Given the description of an element on the screen output the (x, y) to click on. 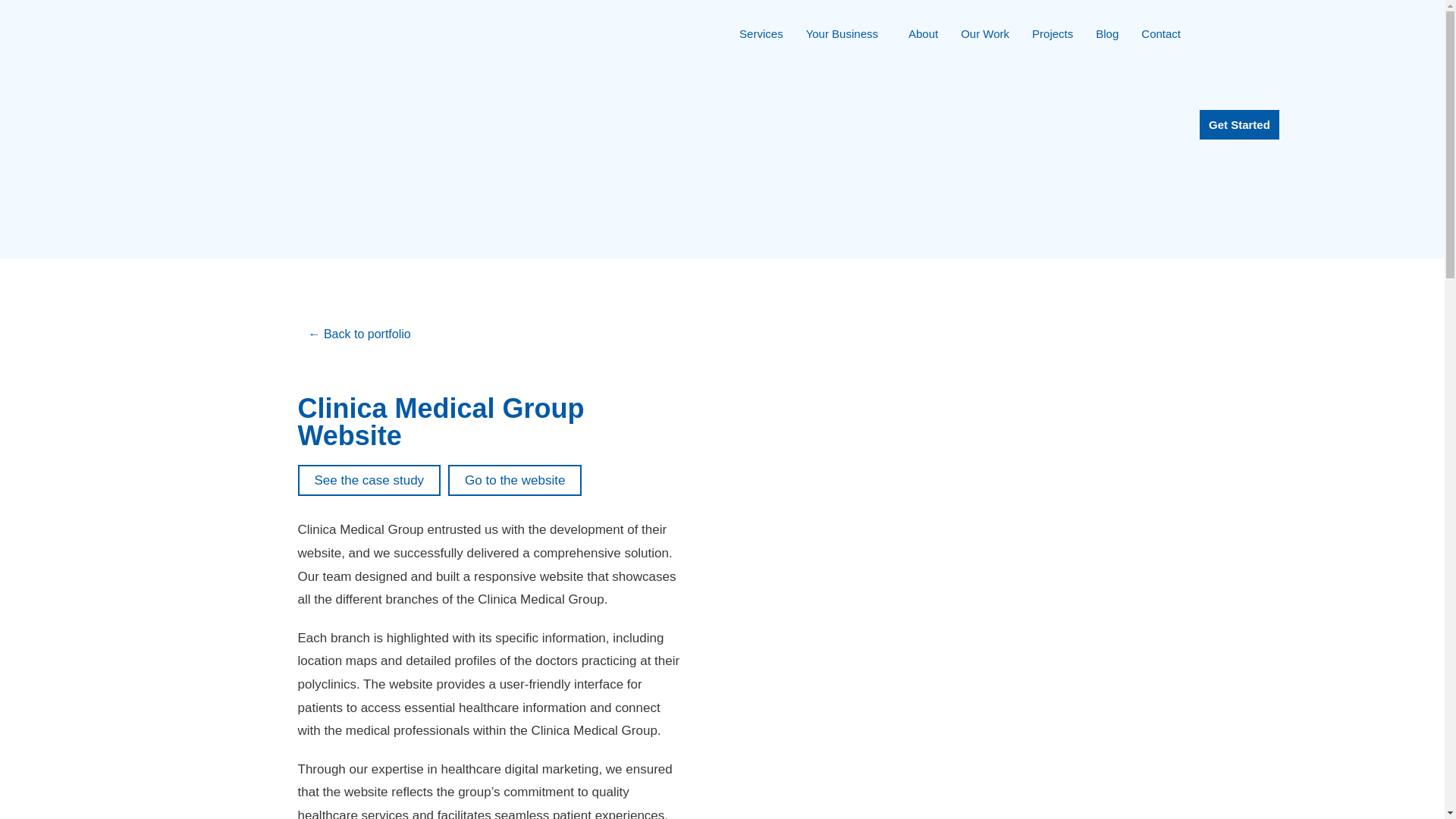
Go to the website (514, 480)
Contact (1160, 34)
Services (761, 34)
Your Business (845, 34)
Projects (1052, 34)
About (922, 34)
See the case study (369, 480)
Blog (1106, 34)
Get Started (1239, 124)
Our Work (984, 34)
